Given the description of an element on the screen output the (x, y) to click on. 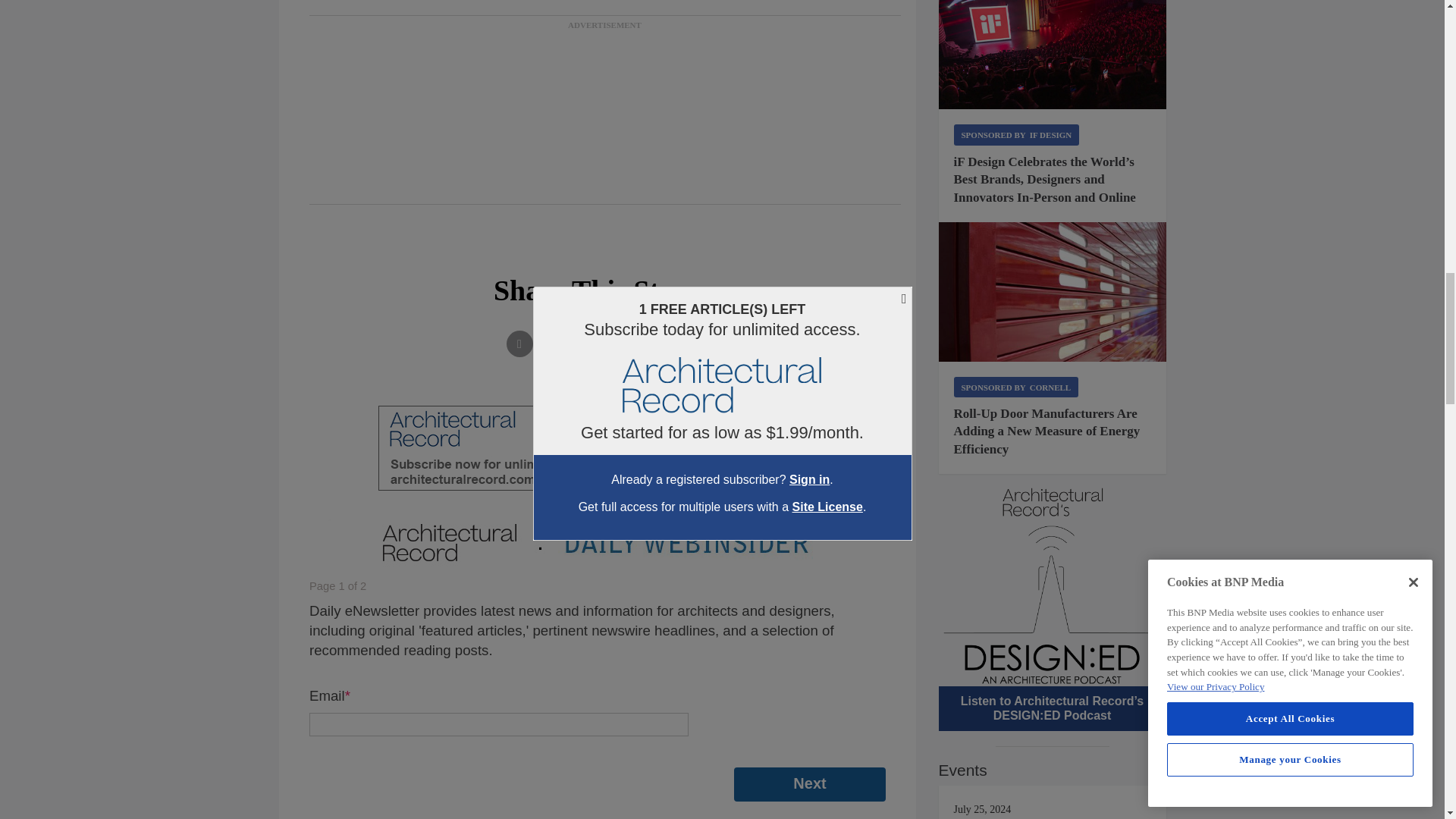
Sponsored by Cornell (1015, 386)
iF Design Awards (1052, 54)
Clopay Thermiser Max (1052, 291)
Sponsored by iF Design (1016, 134)
